Given the description of an element on the screen output the (x, y) to click on. 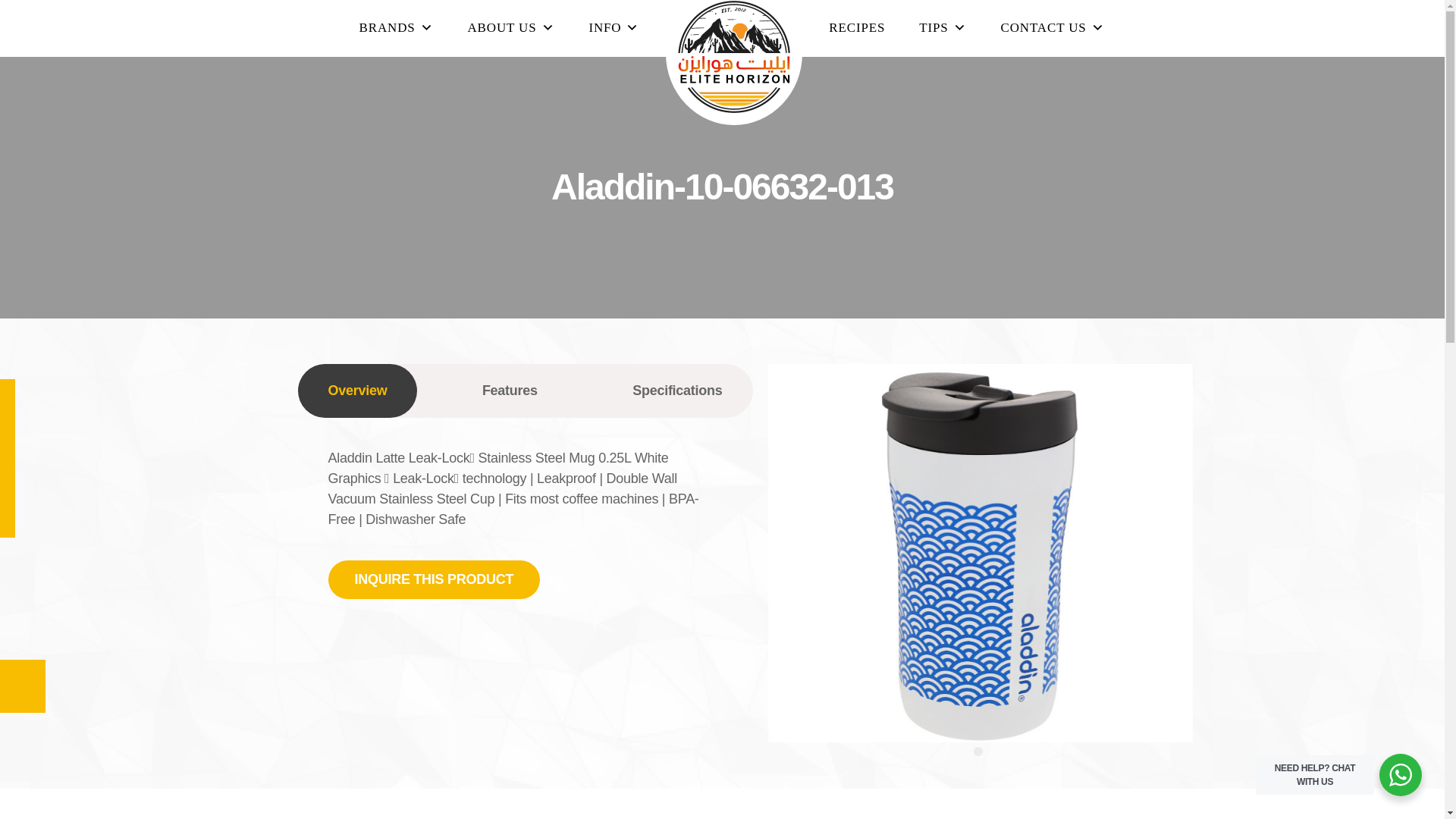
BRANDS (396, 27)
